Given the description of an element on the screen output the (x, y) to click on. 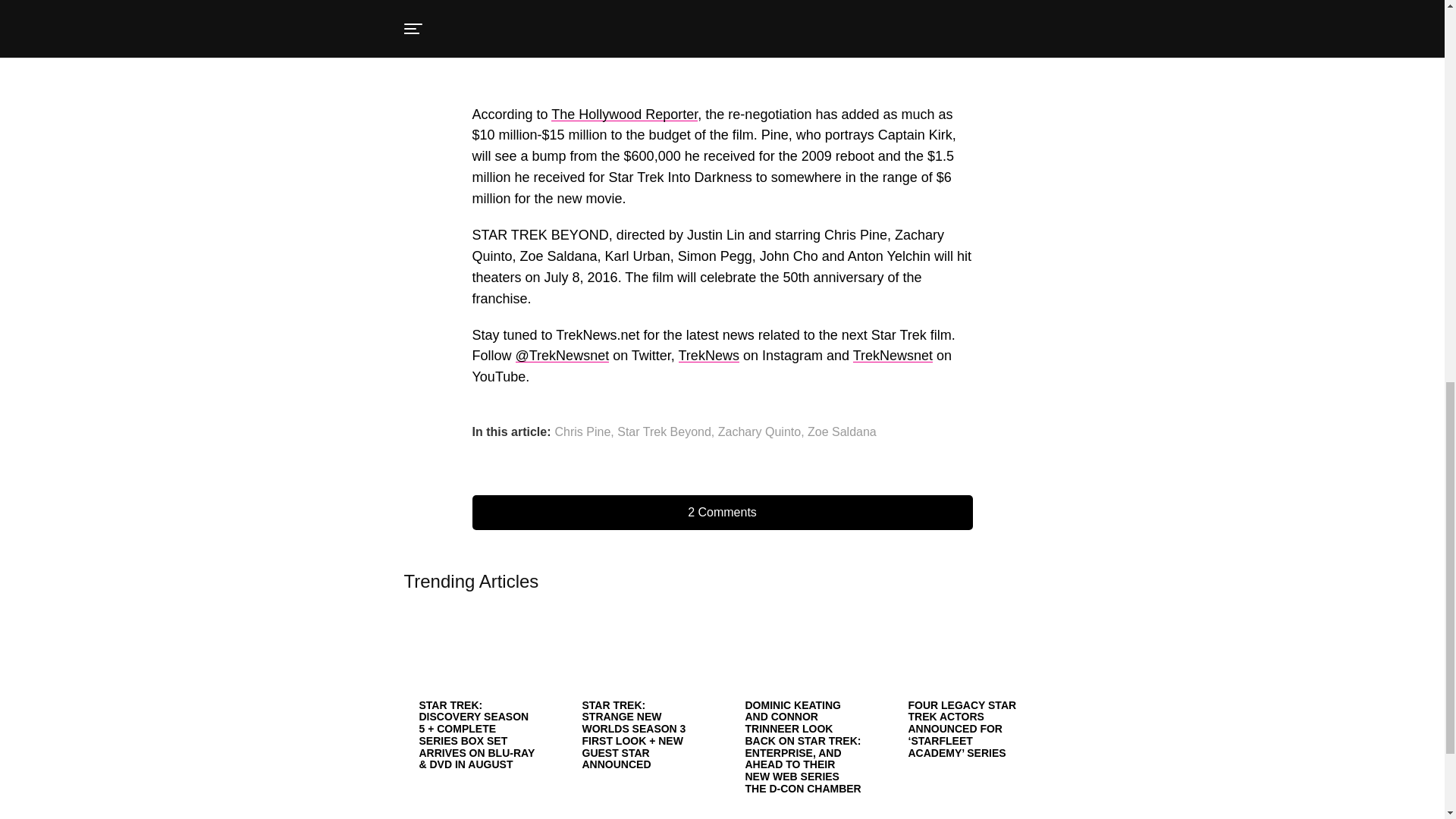
Star Trek Beyond (664, 431)
Zoe Saldana (842, 431)
TrekNews (708, 355)
TrekNewsnet (893, 355)
TrekNews (708, 355)
TrekNewsnet (893, 355)
Chris Pine (582, 431)
Zachary Quinto (758, 431)
The Hollywood Reporter (624, 114)
